Given the description of an element on the screen output the (x, y) to click on. 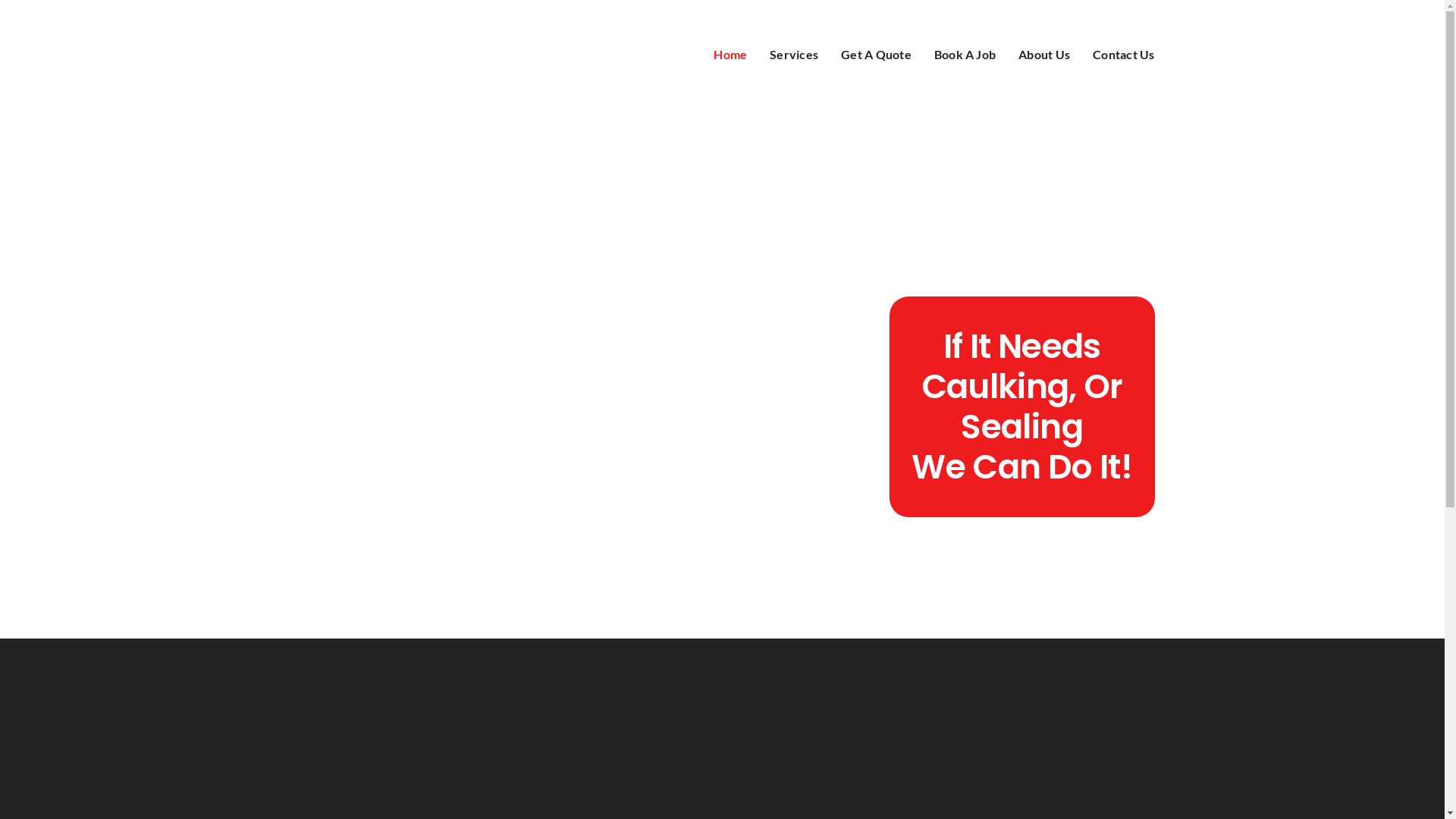
Book A Job Element type: text (964, 54)
About Us Element type: text (1044, 54)
Home Element type: text (729, 54)
Contact Us Element type: text (1123, 54)
Services Element type: text (793, 54)
Get A Quote Element type: text (875, 54)
